Given the description of an element on the screen output the (x, y) to click on. 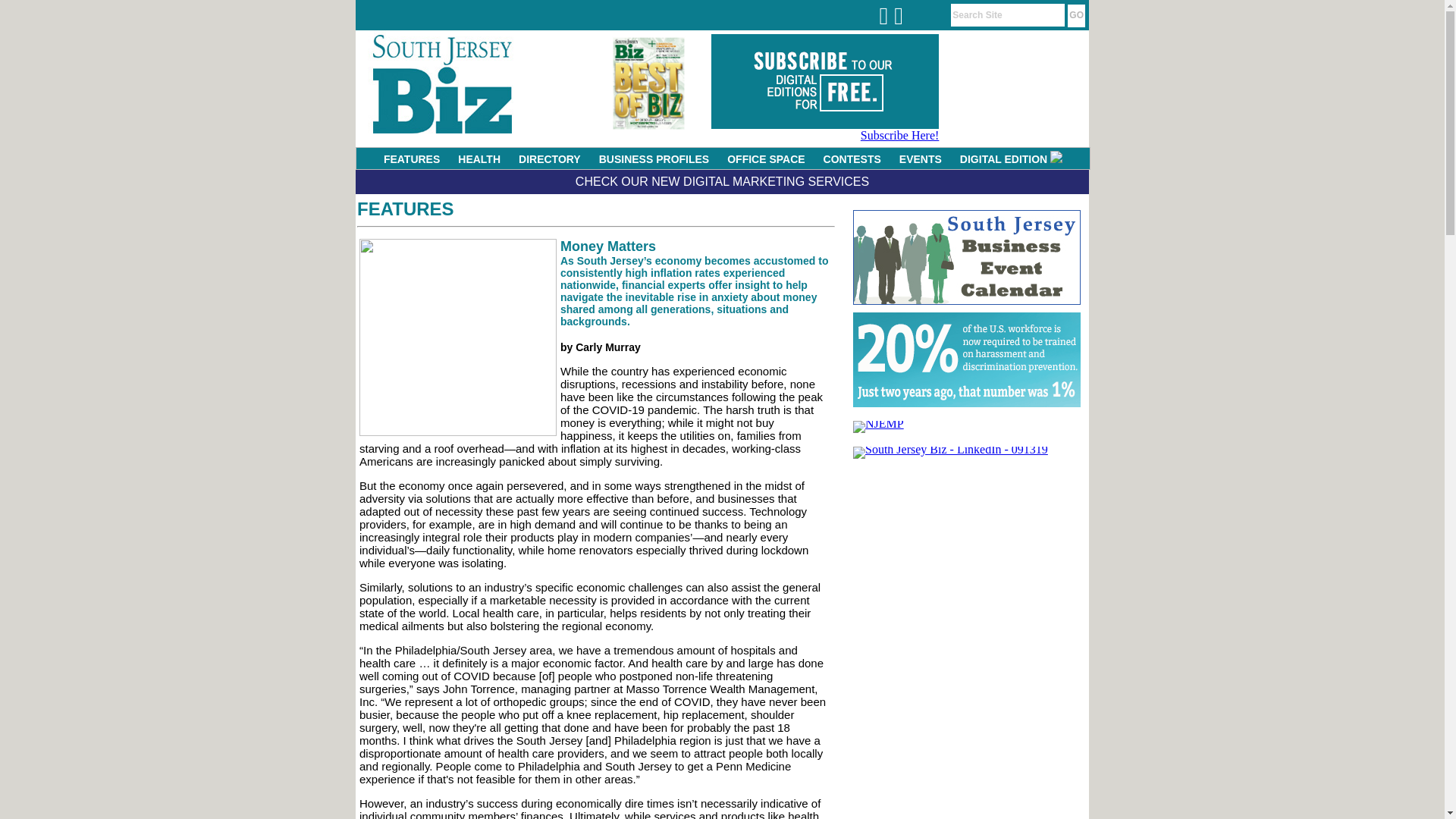
CHECK OUR NEW DIGITAL MARKETING SERVICES (722, 181)
CONTESTS (851, 158)
HEALTH (478, 158)
Search Site (1007, 15)
FEATURES (410, 158)
OFFICE SPACE (765, 158)
BUSINESS PROFILES (653, 158)
DIGITAL EDITION (1011, 158)
DIRECTORY (549, 158)
EVENTS (920, 158)
